Given the description of an element on the screen output the (x, y) to click on. 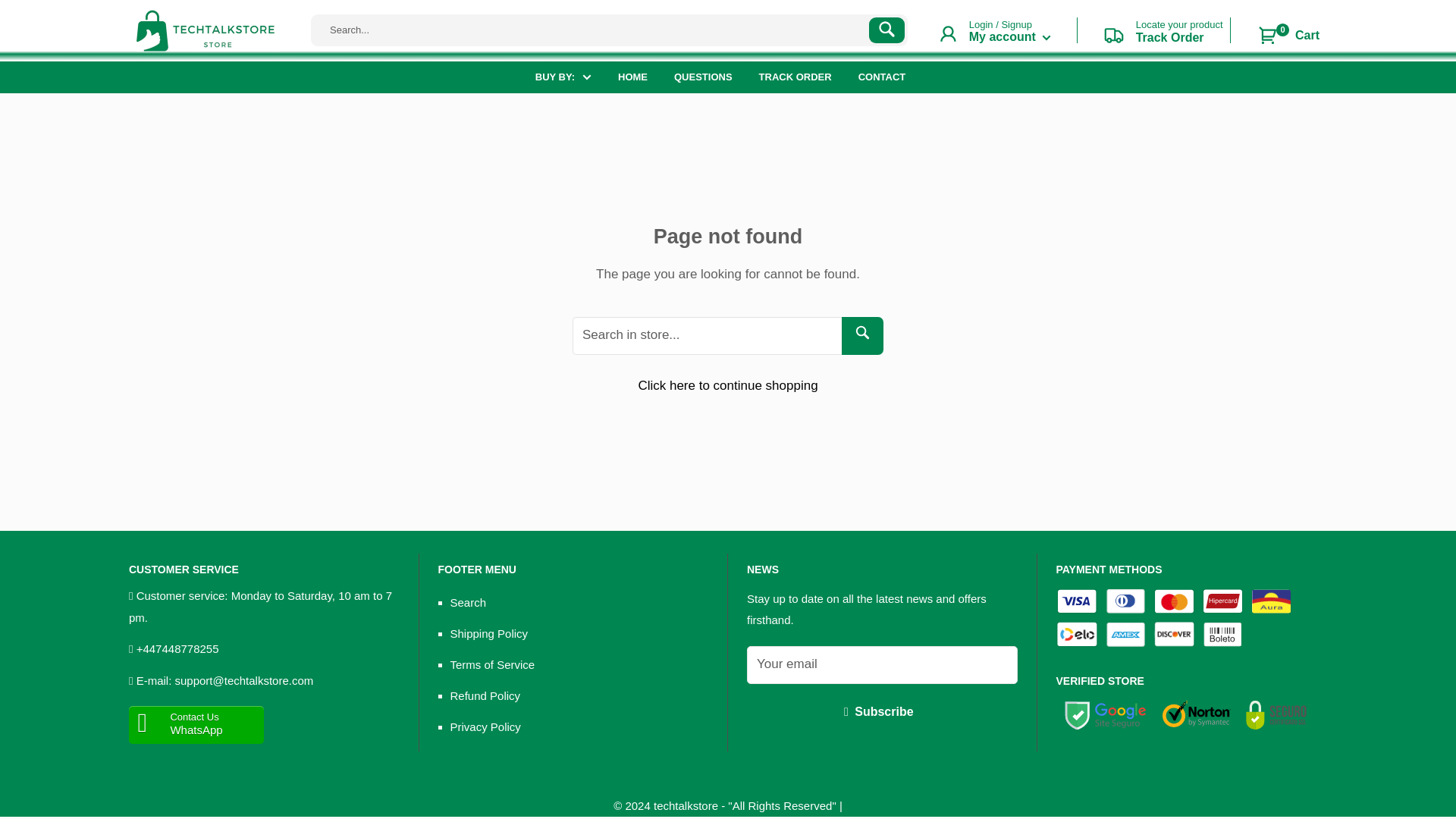
CONTACT (1153, 35)
TRACK ORDER (882, 76)
HOME (794, 76)
BUY BY: (632, 76)
My account (563, 76)
QUESTIONS (1288, 35)
Tech Talk Store (1010, 36)
